Given the description of an element on the screen output the (x, y) to click on. 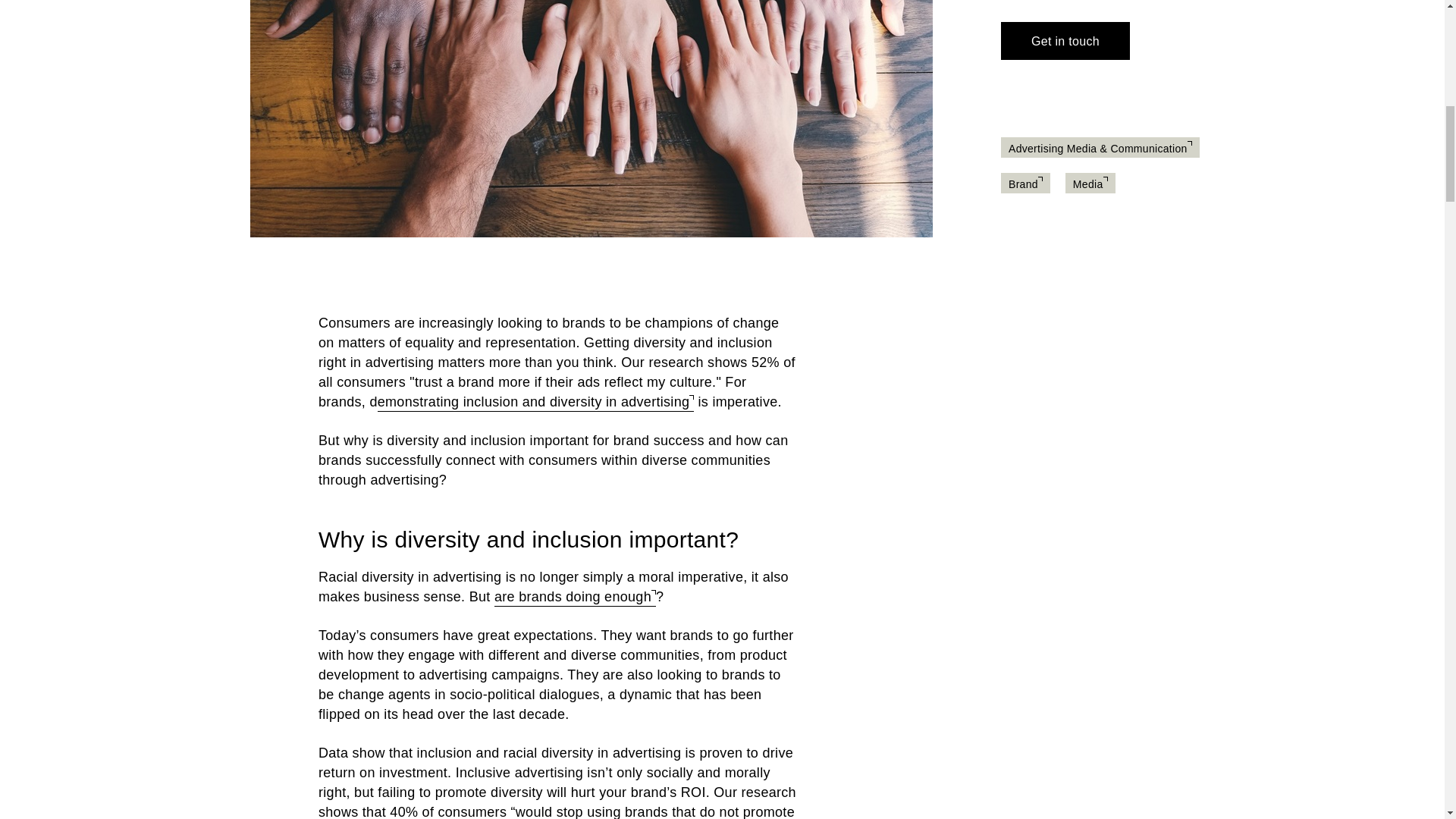
Advertising Media Communication (1100, 148)
Brand (1025, 184)
Media (1090, 184)
